Given the description of an element on the screen output the (x, y) to click on. 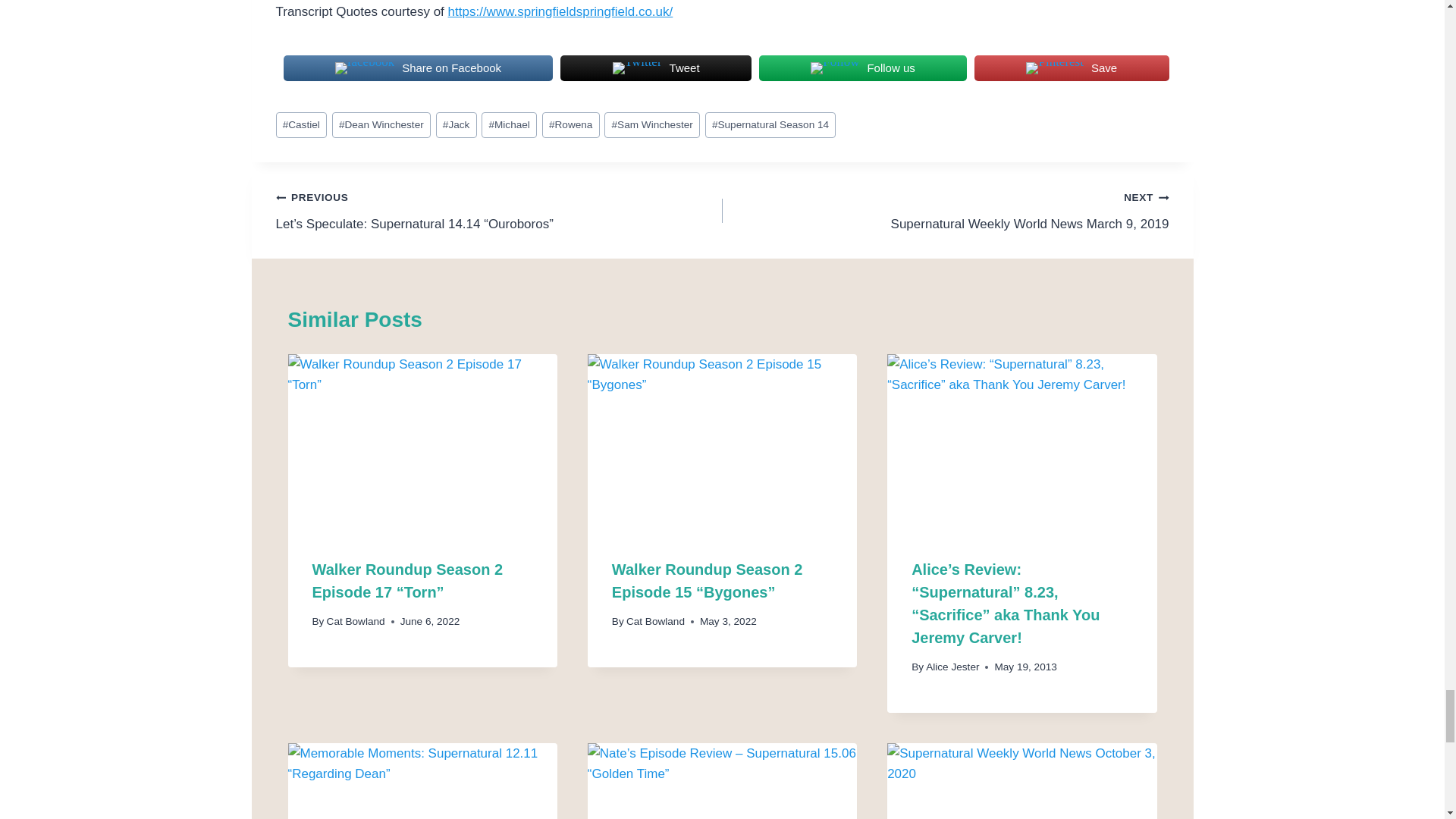
Supernatural Season 14 (769, 125)
Dean Winchester (380, 125)
Follow us (862, 68)
Jack (456, 125)
Tweet (655, 68)
Michael (509, 125)
Castiel (301, 125)
Sam Winchester (652, 125)
Share on Facebook (418, 68)
Save (1071, 68)
